Given the description of an element on the screen output the (x, y) to click on. 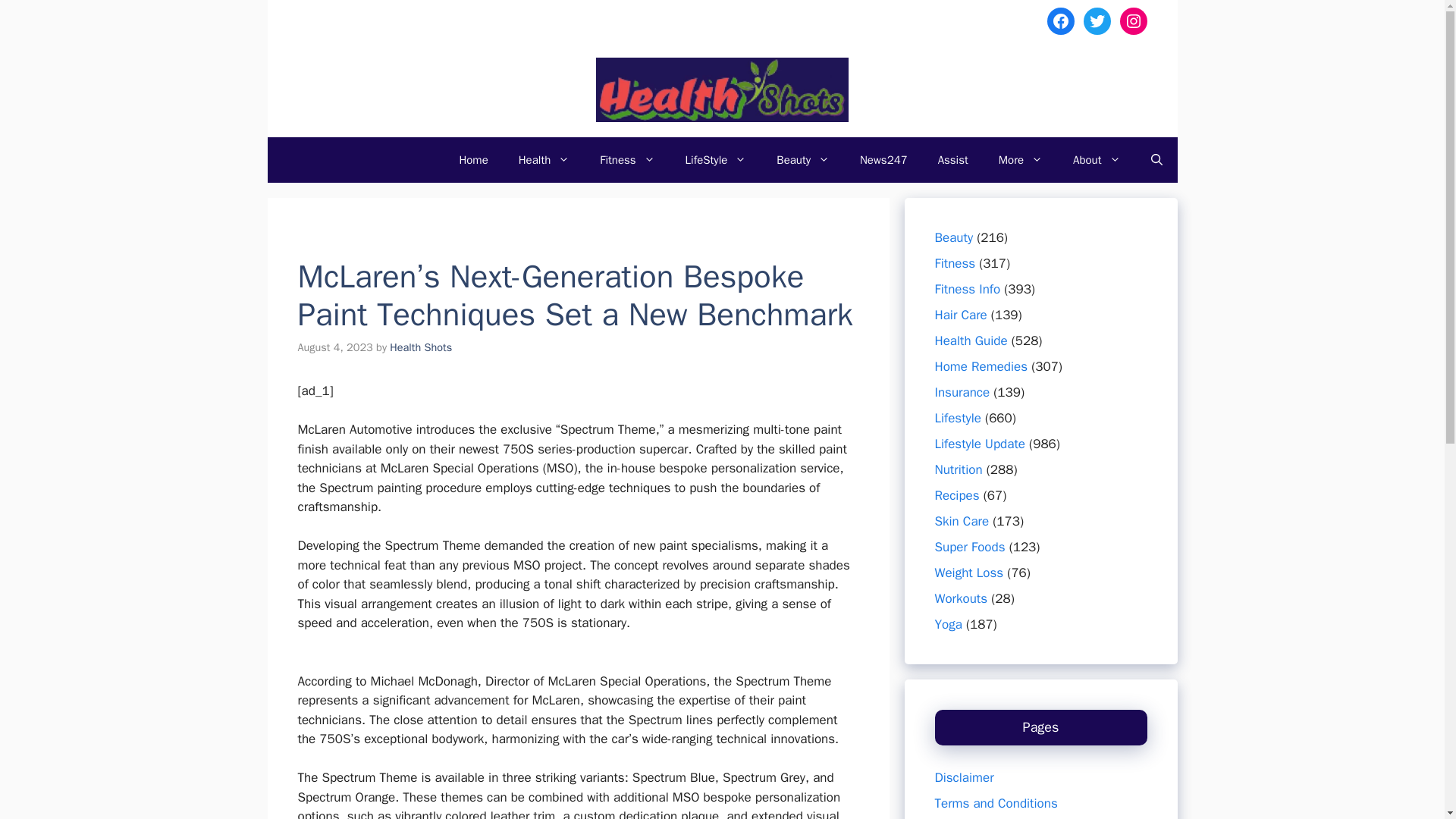
Health Shots (420, 346)
More (1021, 159)
About (1096, 159)
Twitter (1096, 21)
LifeStyle (715, 159)
Facebook (1060, 21)
Health (544, 159)
Beauty (802, 159)
View all posts by Health Shots (420, 346)
News247 (883, 159)
Home (473, 159)
Assist (953, 159)
Instagram (1133, 21)
Fitness (627, 159)
